Given the description of an element on the screen output the (x, y) to click on. 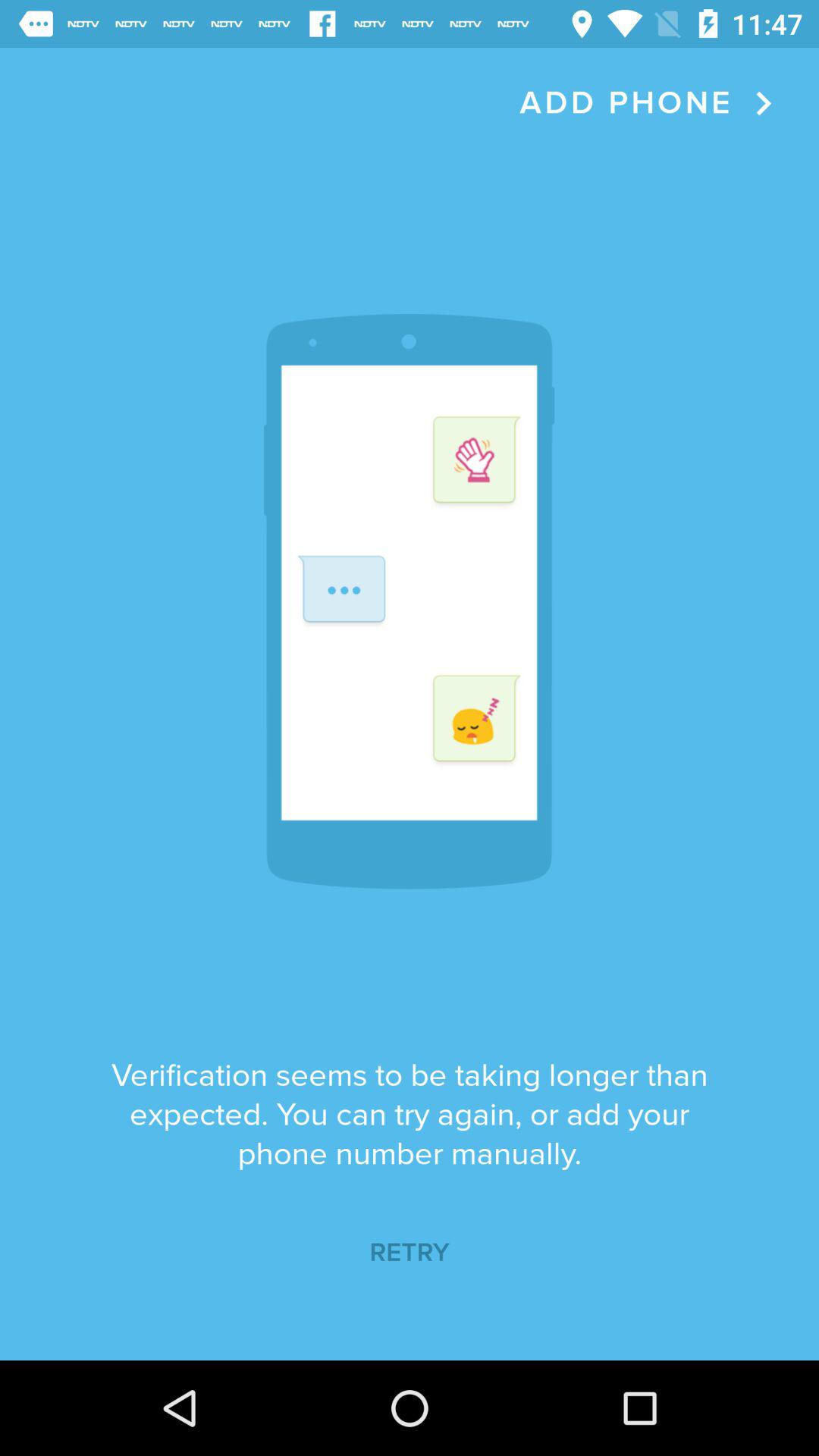
turn on icon below the verification seems to item (409, 1252)
